Given the description of an element on the screen output the (x, y) to click on. 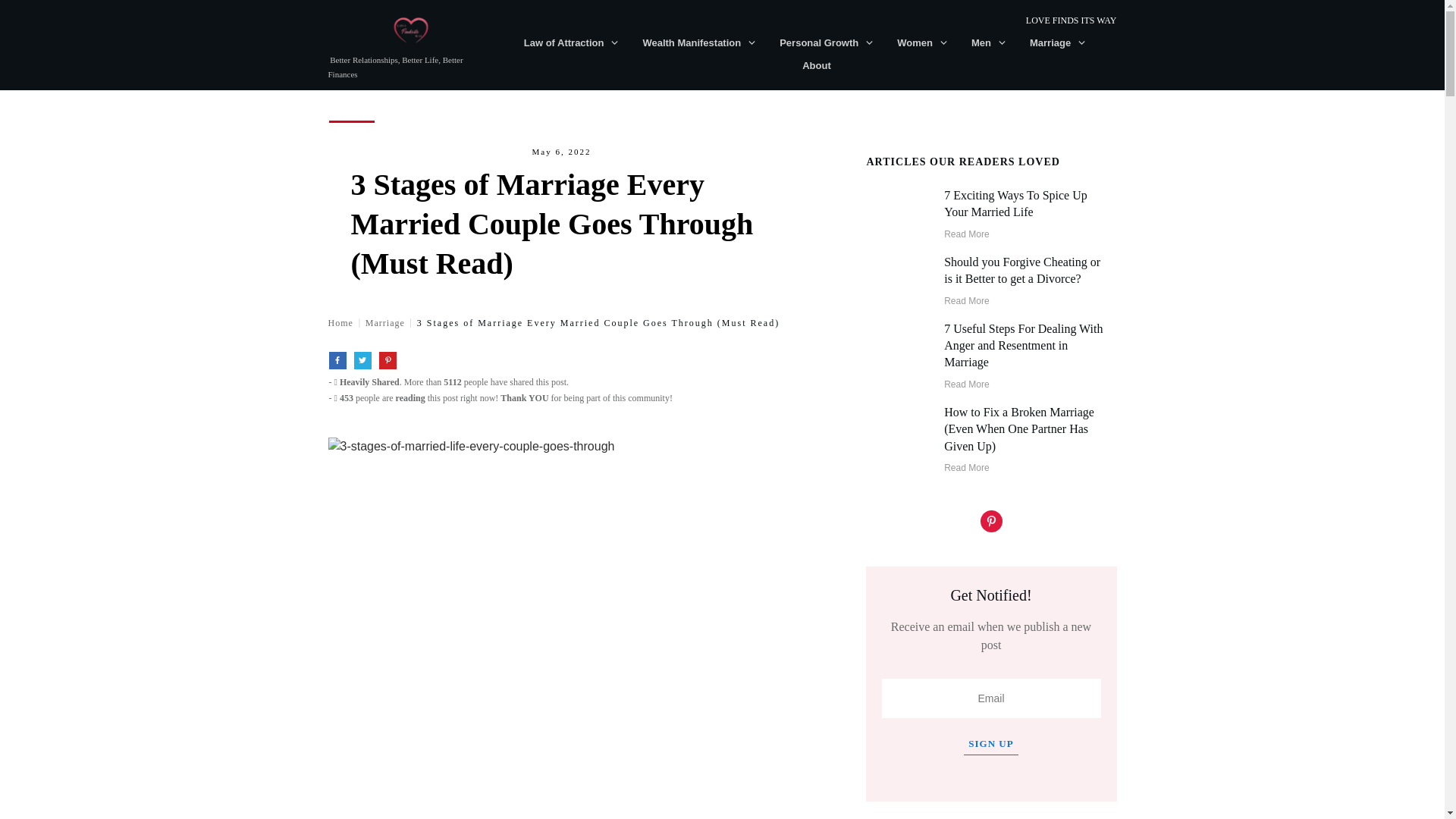
About (816, 66)
Women (922, 43)
Law of Attraction (572, 43)
Men (989, 43)
7 Exciting Ways To Spice Up Your Married Life (1015, 203)
Marriage (1057, 43)
Wealth Manifestation (699, 43)
Personal Growth (826, 43)
